Given the description of an element on the screen output the (x, y) to click on. 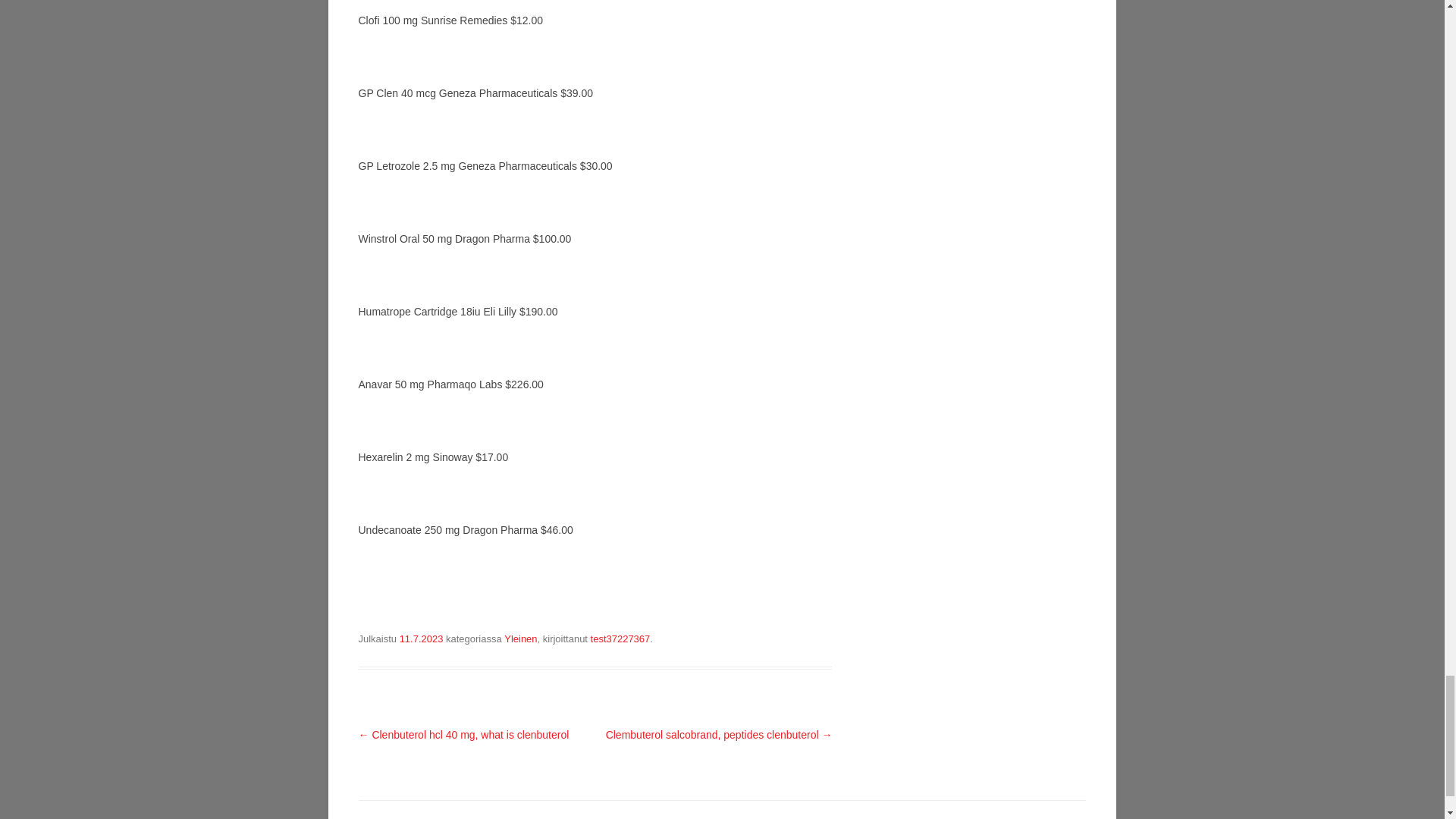
Yleinen (520, 638)
11.7.2023 (421, 638)
test37227367 (620, 638)
02:41 (421, 638)
